Given the description of an element on the screen output the (x, y) to click on. 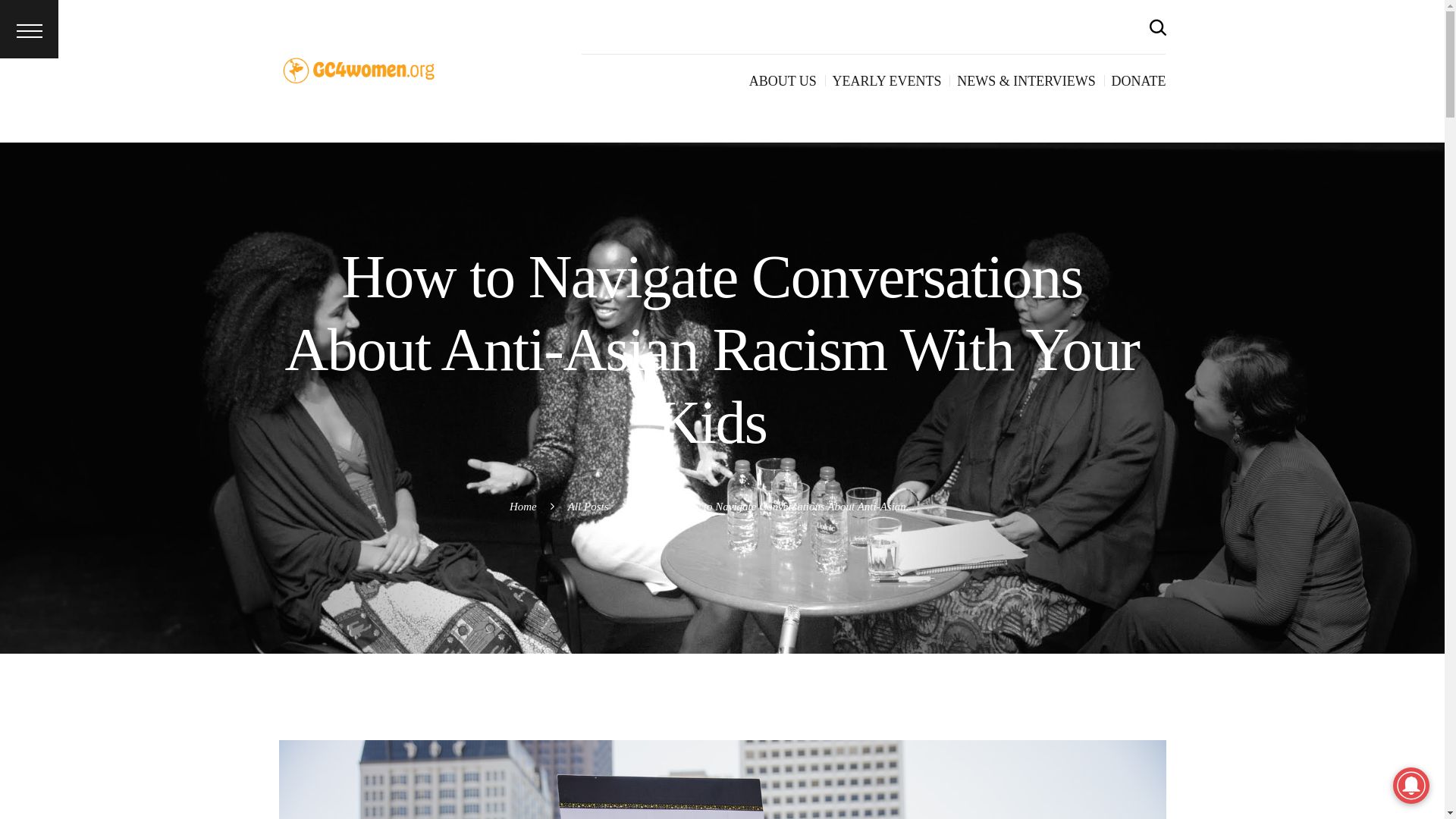
ABOUT US (782, 81)
YEARLY EVENTS (887, 81)
